Given the description of an element on the screen output the (x, y) to click on. 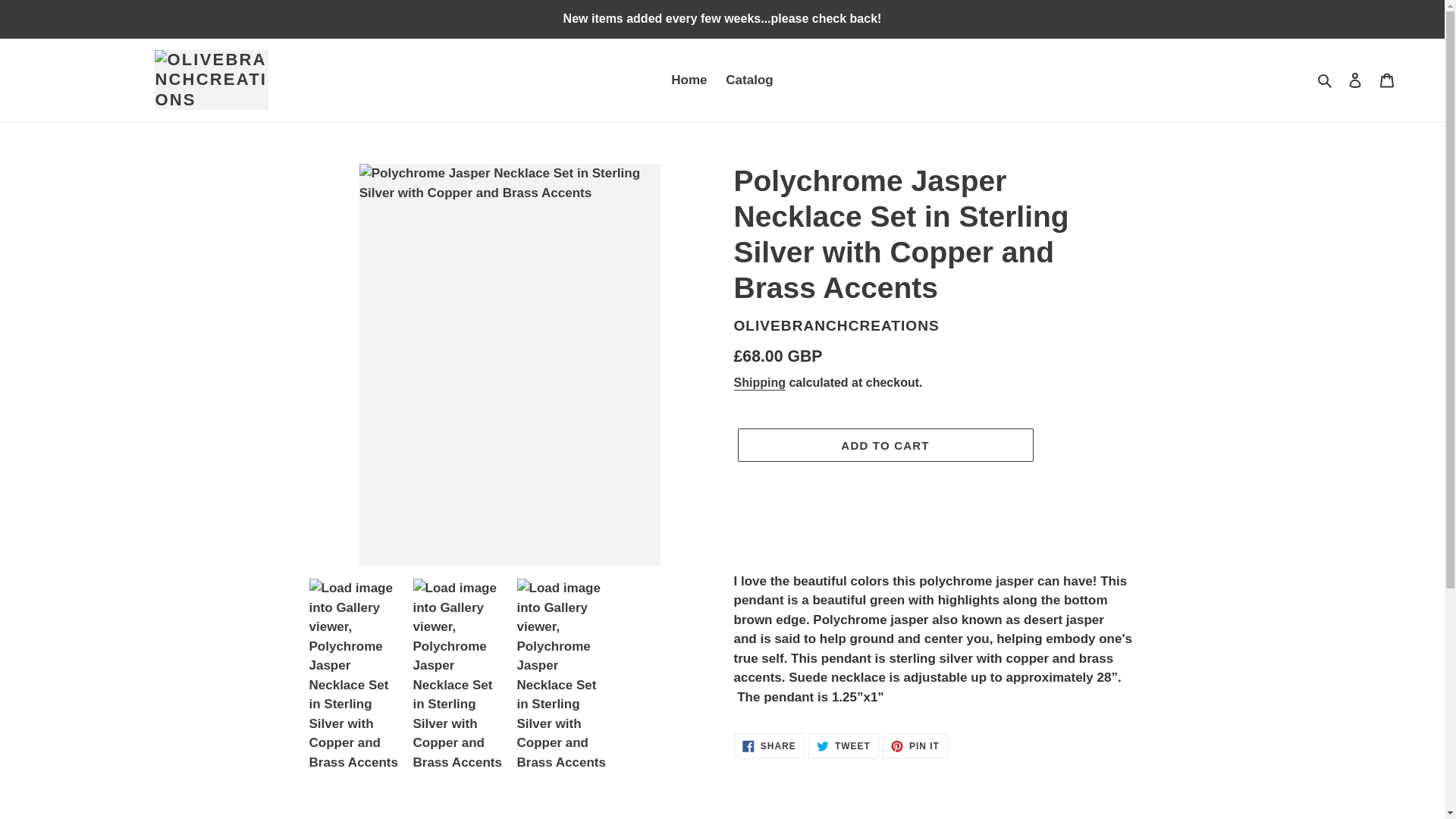
Search (1326, 79)
Log in (1355, 80)
New items added every few weeks...please check back! (914, 746)
Catalog (721, 18)
Cart (748, 79)
Shipping (1387, 80)
Home (769, 746)
ADD TO CART (759, 382)
